Given the description of an element on the screen output the (x, y) to click on. 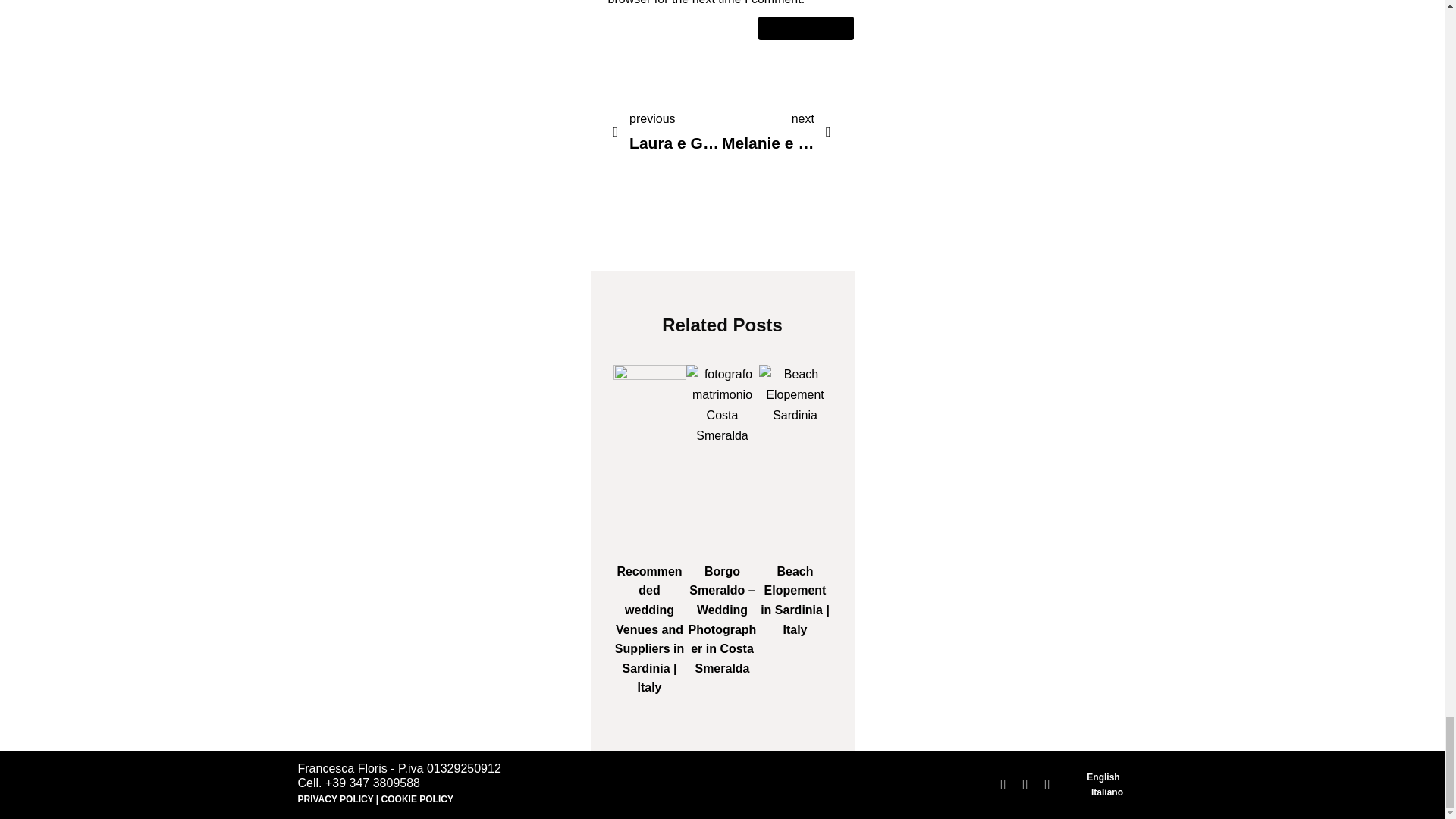
Italiano (1106, 792)
COOKIE POLICY (667, 132)
English (776, 132)
Post Comment (416, 798)
PRIVACY POLICY (1102, 776)
Post Comment (805, 28)
